Given the description of an element on the screen output the (x, y) to click on. 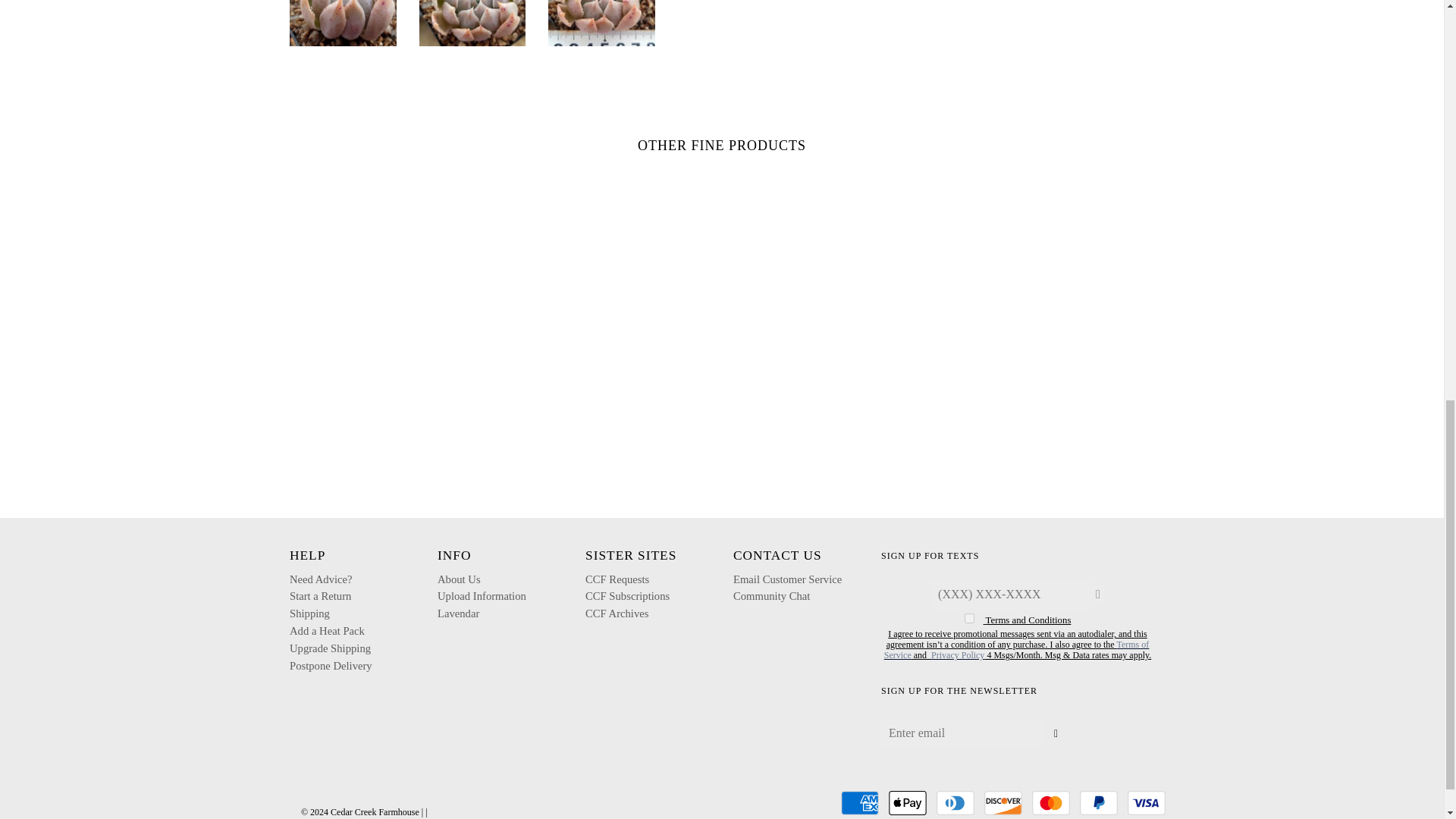
on (968, 618)
